Given the description of an element on the screen output the (x, y) to click on. 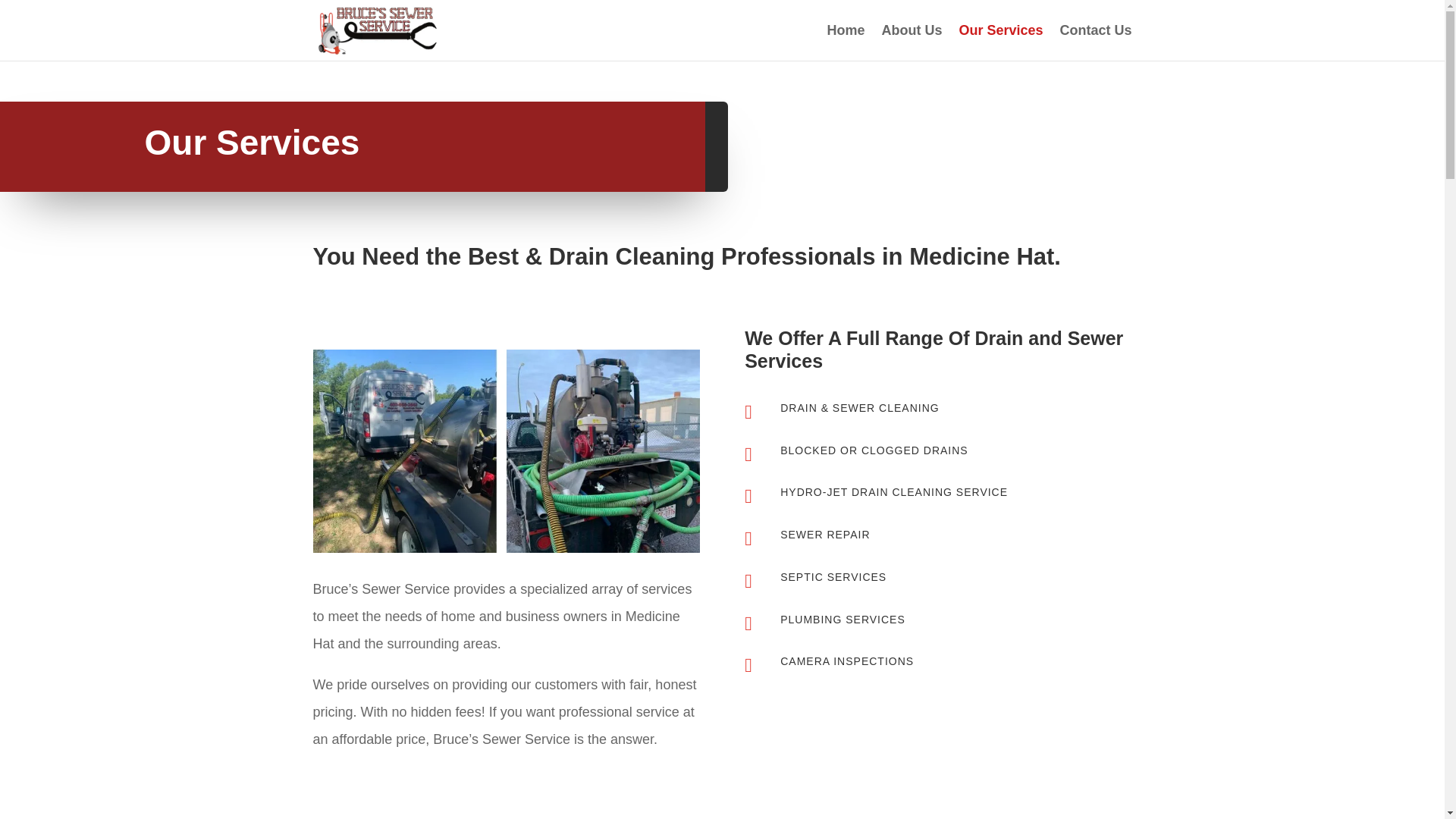
Home (845, 42)
sewer service medicine hat (505, 450)
Contact Us (1095, 42)
About Us (911, 42)
Our Services (1000, 42)
